Given the description of an element on the screen output the (x, y) to click on. 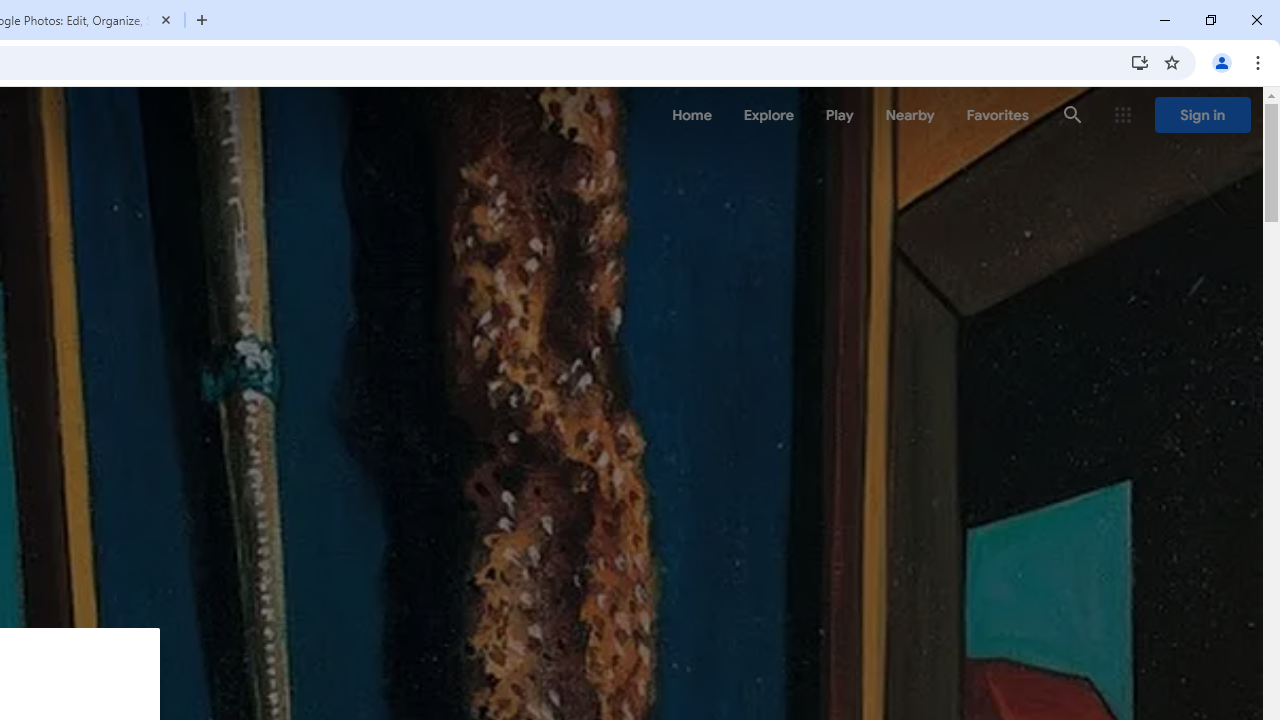
Install Google Arts & Culture (1139, 62)
